Given the description of an element on the screen output the (x, y) to click on. 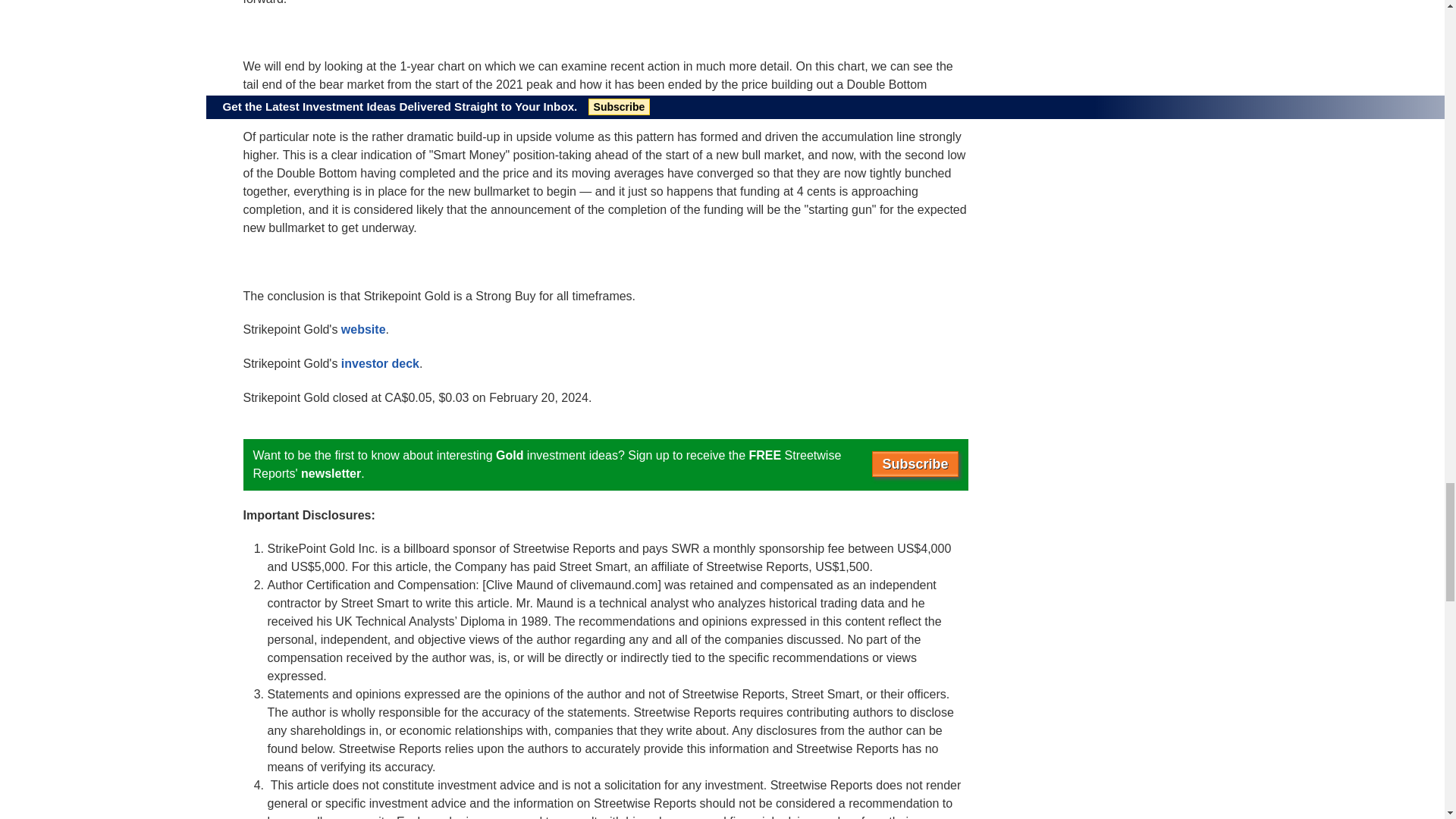
website (362, 328)
Subscribe (915, 463)
investor deck (379, 363)
